Given the description of an element on the screen output the (x, y) to click on. 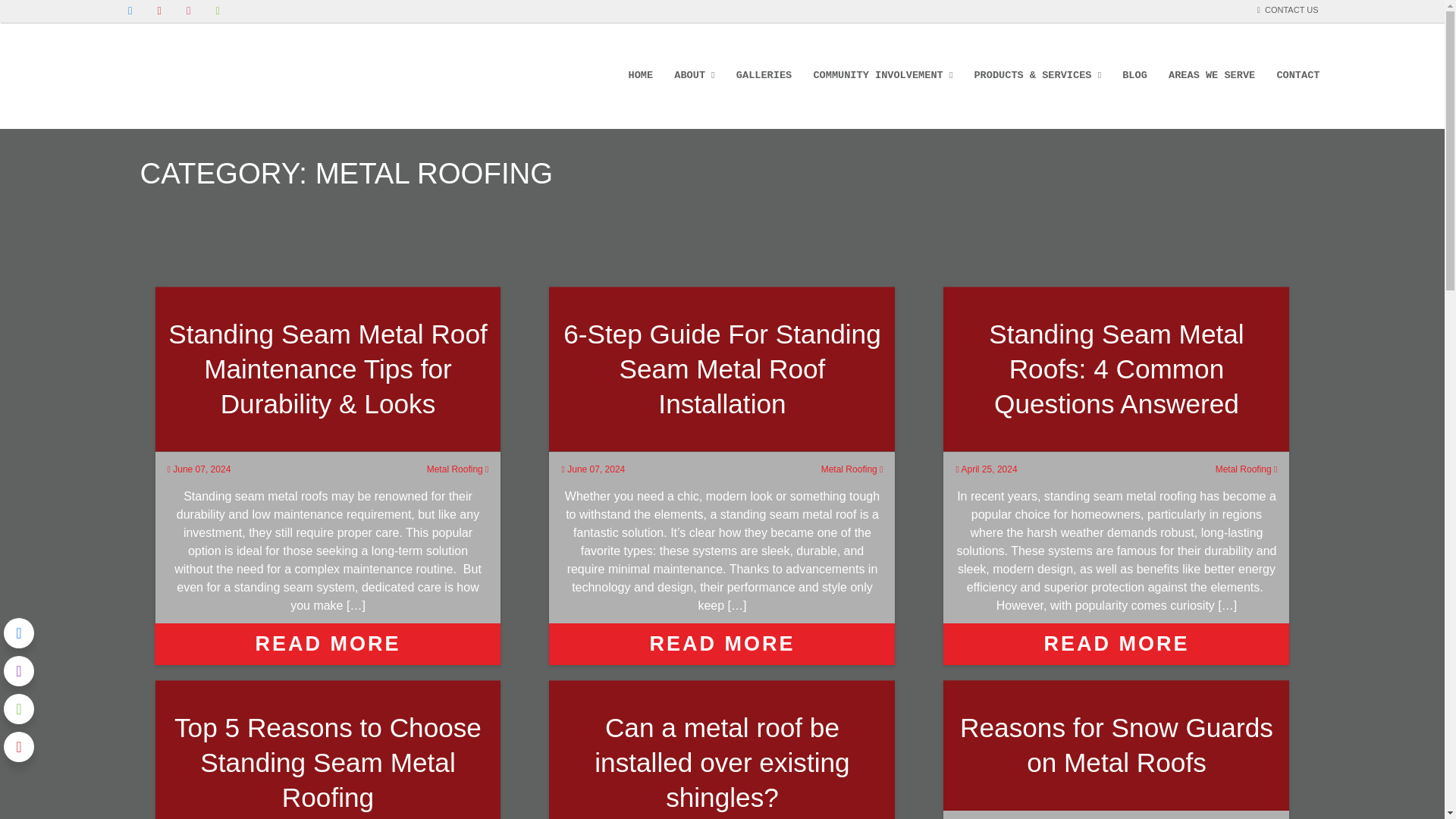
GALLERIES (764, 75)
HOME (639, 75)
BLOG (1134, 75)
ABOUT (689, 75)
COMMUNITY INVOLVEMENT (877, 75)
  CONTACT US (1287, 9)
CONTACT (1297, 75)
AREAS WE SERVE (1212, 75)
